Given the description of an element on the screen output the (x, y) to click on. 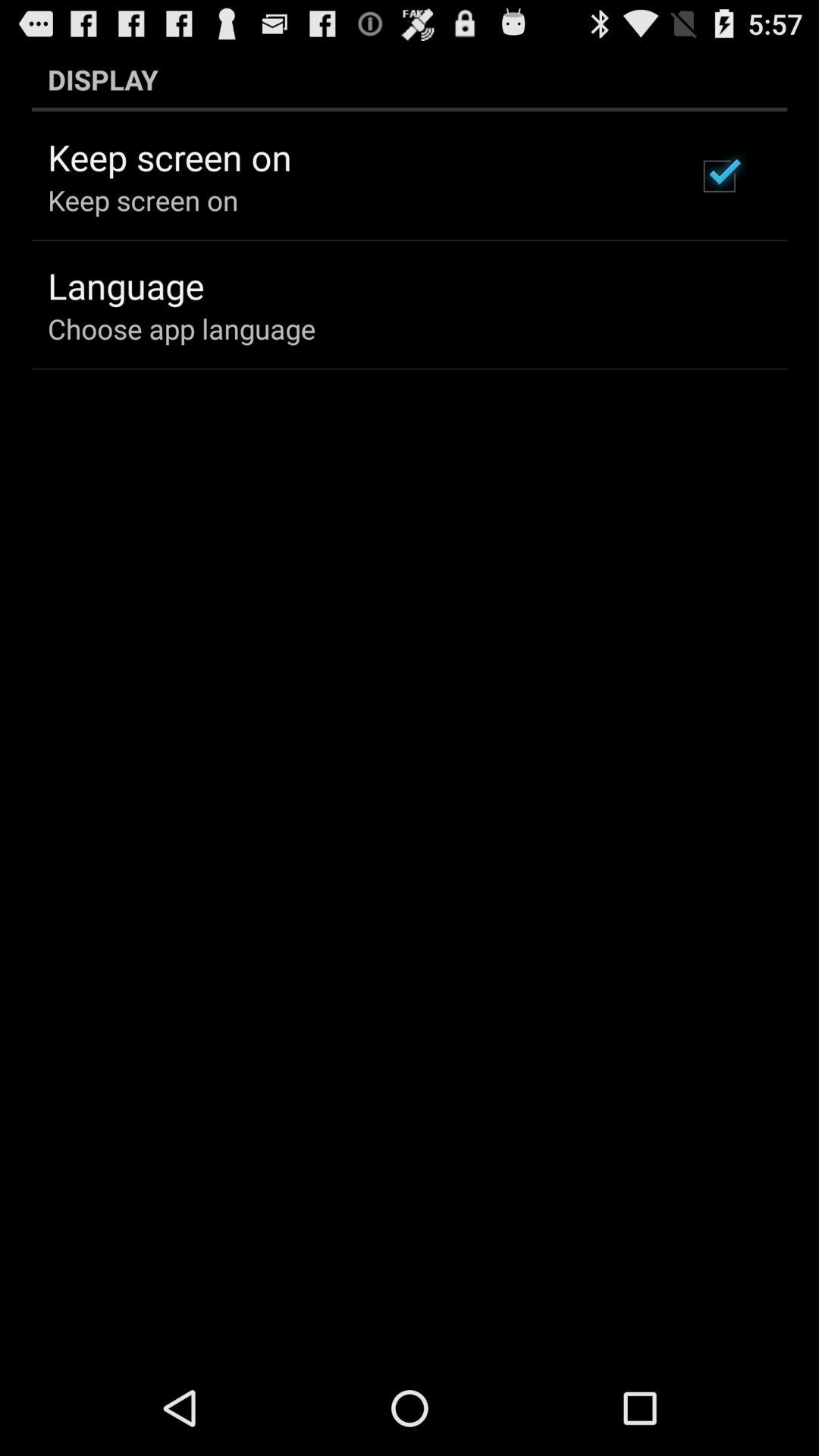
tap the icon above the keep screen on (409, 79)
